Given the description of an element on the screen output the (x, y) to click on. 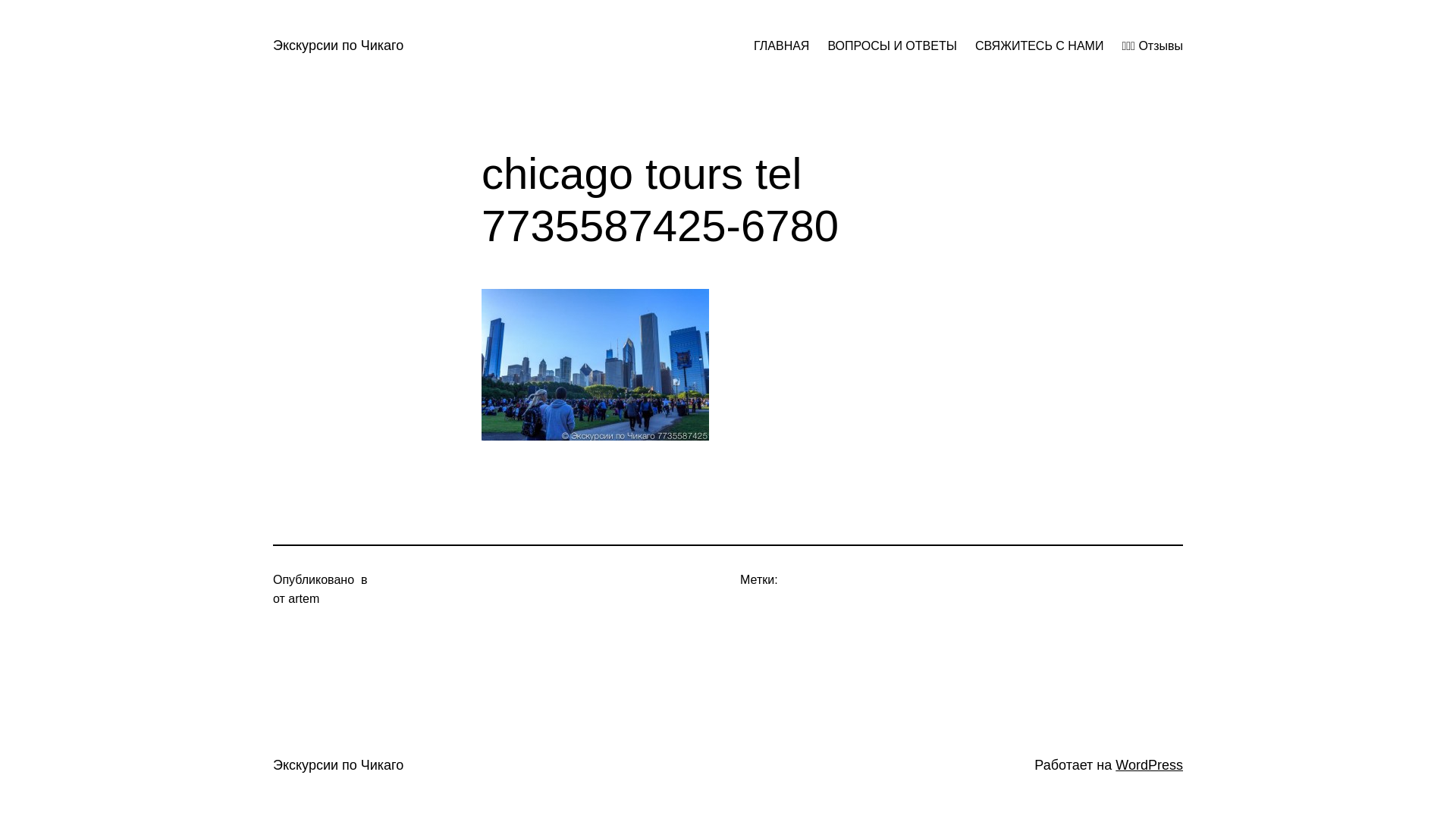
WordPress Element type: text (1149, 764)
